Given the description of an element on the screen output the (x, y) to click on. 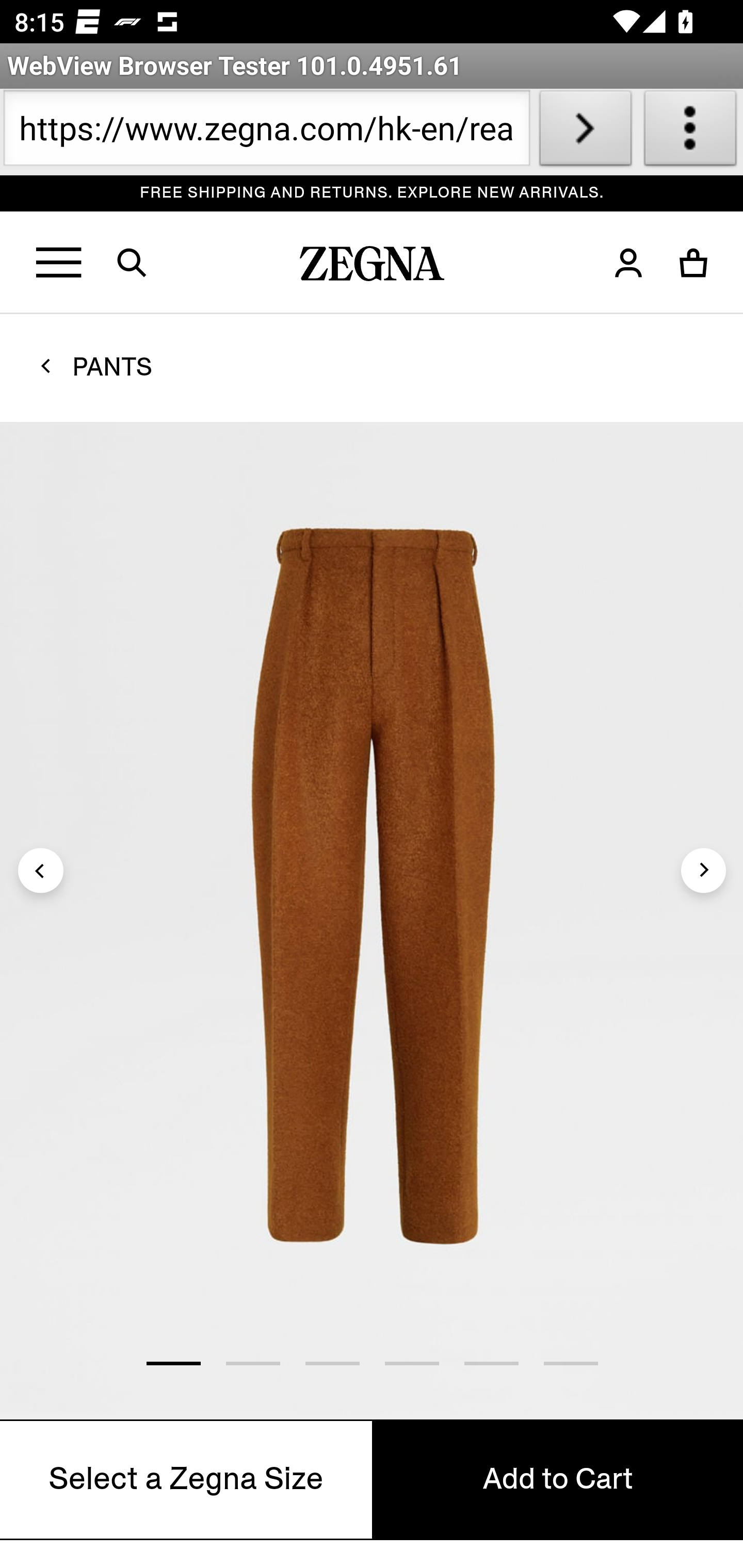
Load URL (585, 132)
About WebView (690, 132)
FREE SHIPPING AND RETURNS. EXPLORE NEW ARRIVALS. (372, 192)
Search (144, 263)
Open Website Menu  (59, 262)
Zegna Homepage (372, 267)
Account Access  (628, 262)
Open Cart Empty  (694, 262)
PANTS (112, 366)
Previous slide (41, 869)
Next slide (703, 869)
Go to slide 1 (173, 1363)
Go to slide 2 (252, 1363)
Go to slide 3 (332, 1363)
Go to slide 4 (411, 1363)
Go to slide 5 (491, 1363)
Go to slide 6 (570, 1363)
Select a Zegna Size (186, 1479)
Add to Cart  (557, 1479)
